Given the description of an element on the screen output the (x, y) to click on. 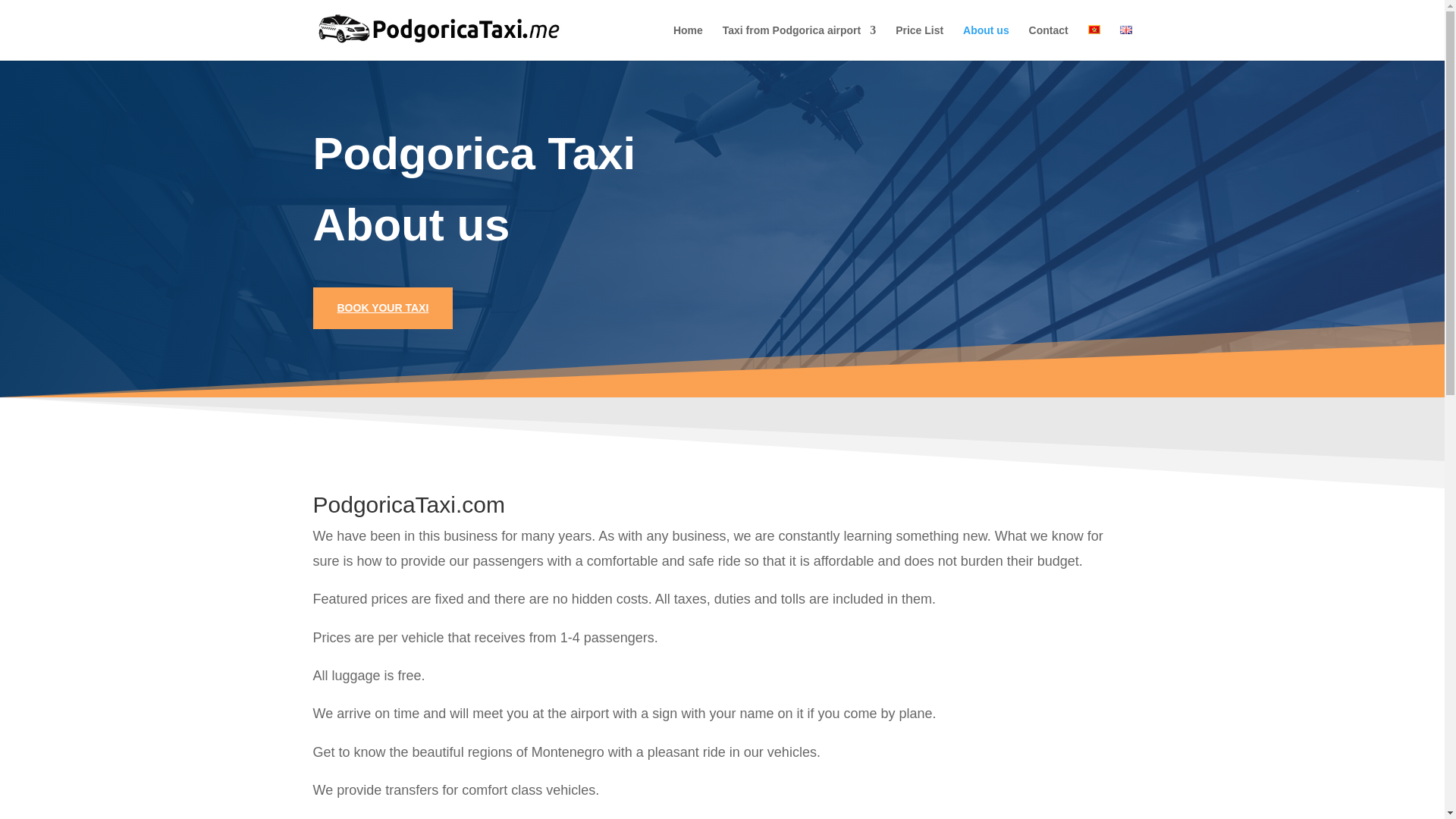
Contact (1048, 42)
About us (985, 42)
Price List (919, 42)
BOOK YOUR TAXI (382, 308)
Taxi from Podgorica airport (799, 42)
